Given the description of an element on the screen output the (x, y) to click on. 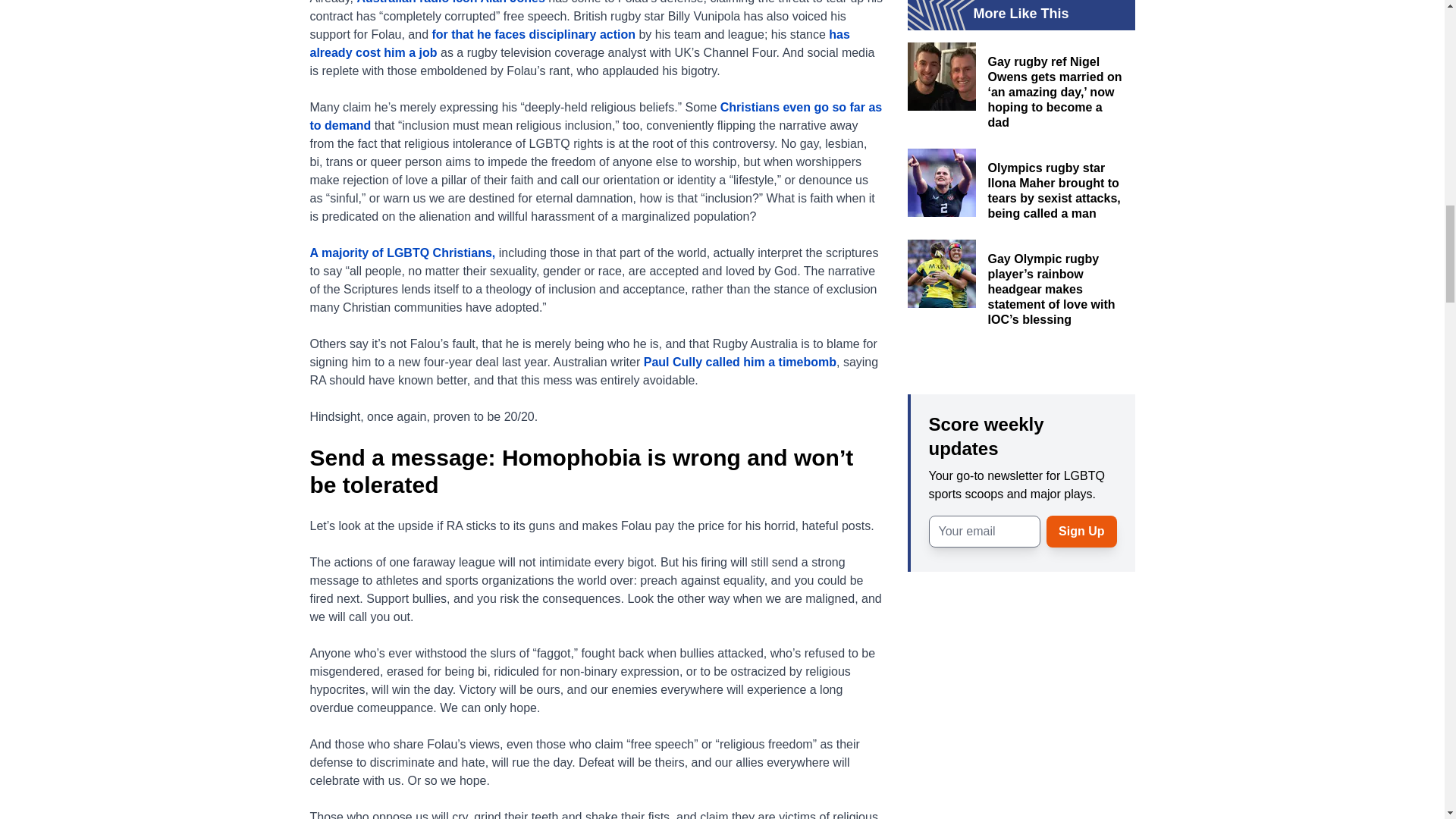
Christians even go so far as to demand (595, 115)
Paul Cully called him a timebomb (739, 361)
Australian radio icon Alan Jones (450, 2)
has already cost him a job (578, 42)
for that he faces disciplinary action (532, 33)
A majority of LGBTQ Christians, (402, 252)
